Given the description of an element on the screen output the (x, y) to click on. 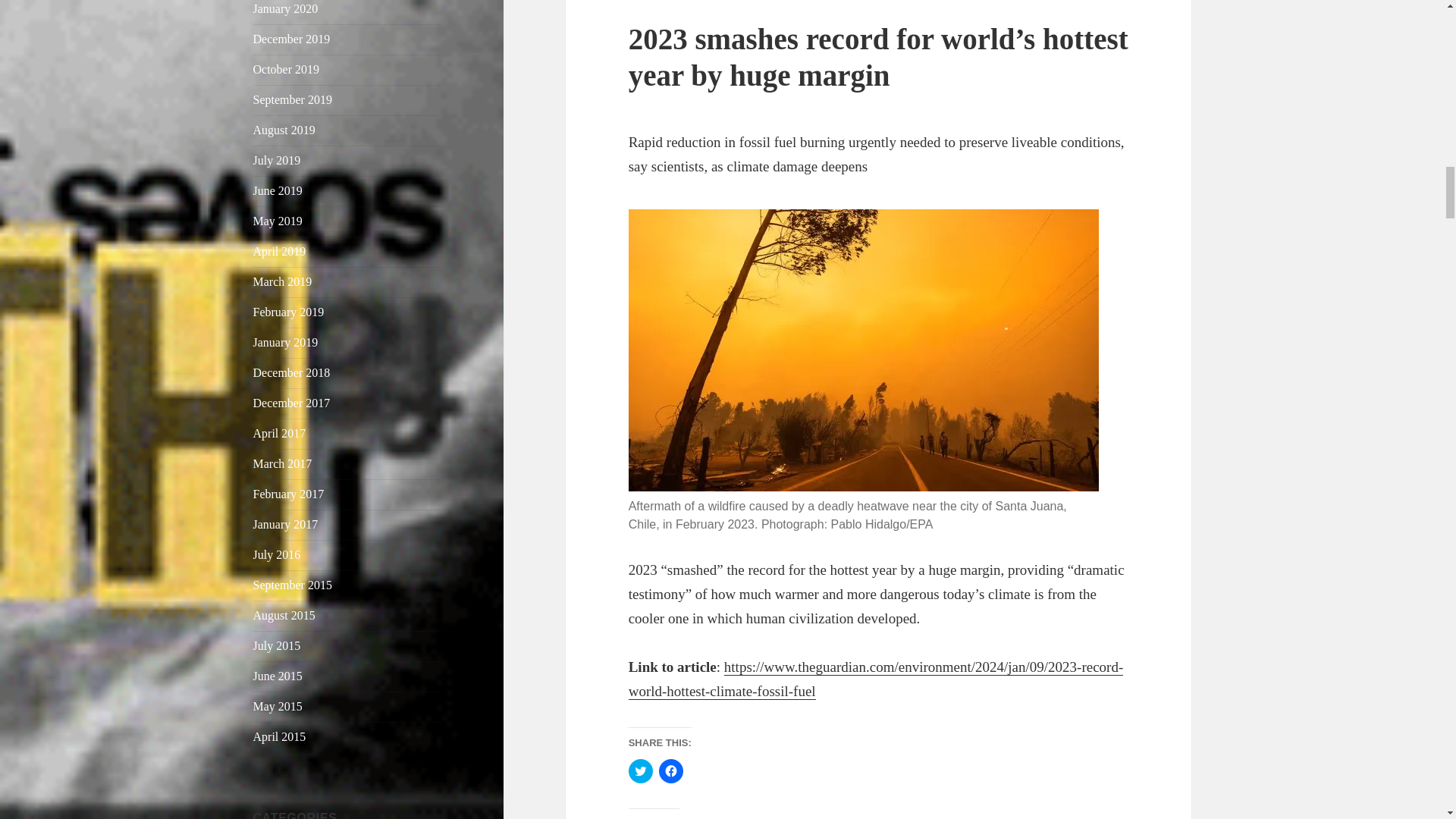
Click to share on Twitter (640, 770)
Click to share on Facebook (670, 770)
